Given the description of an element on the screen output the (x, y) to click on. 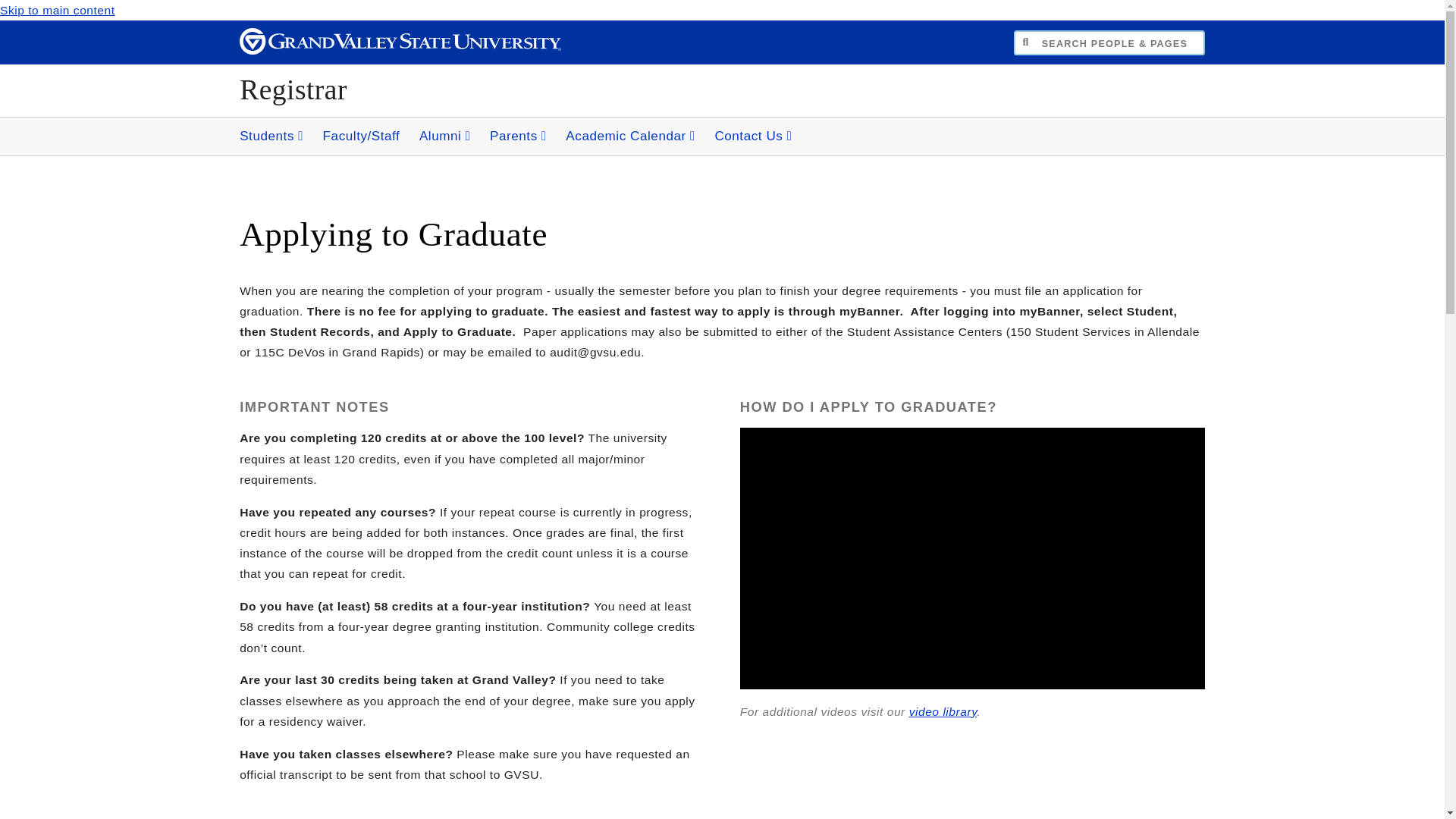
Alumni (445, 136)
Contact Us (752, 136)
Parents (517, 136)
How Do I Apply to Graduate? (972, 558)
video library (942, 711)
Students (271, 136)
Academic Calendar (630, 136)
Skip to main content (57, 10)
Registrar (293, 89)
